Given the description of an element on the screen output the (x, y) to click on. 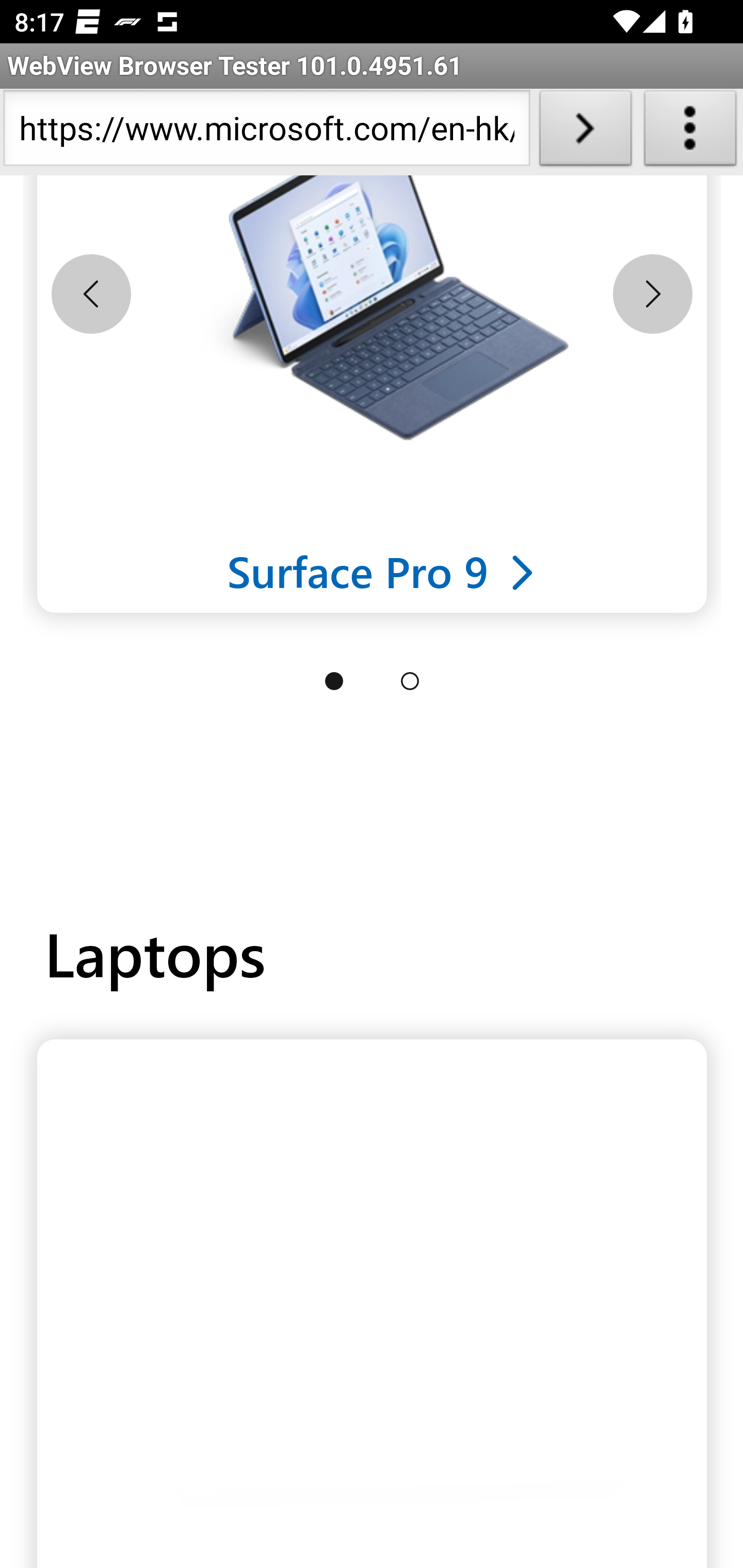
Load URL (585, 132)
About WebView (690, 132)
Previous slide (90, 294)
Next slide (652, 294)
